Given the description of an element on the screen output the (x, y) to click on. 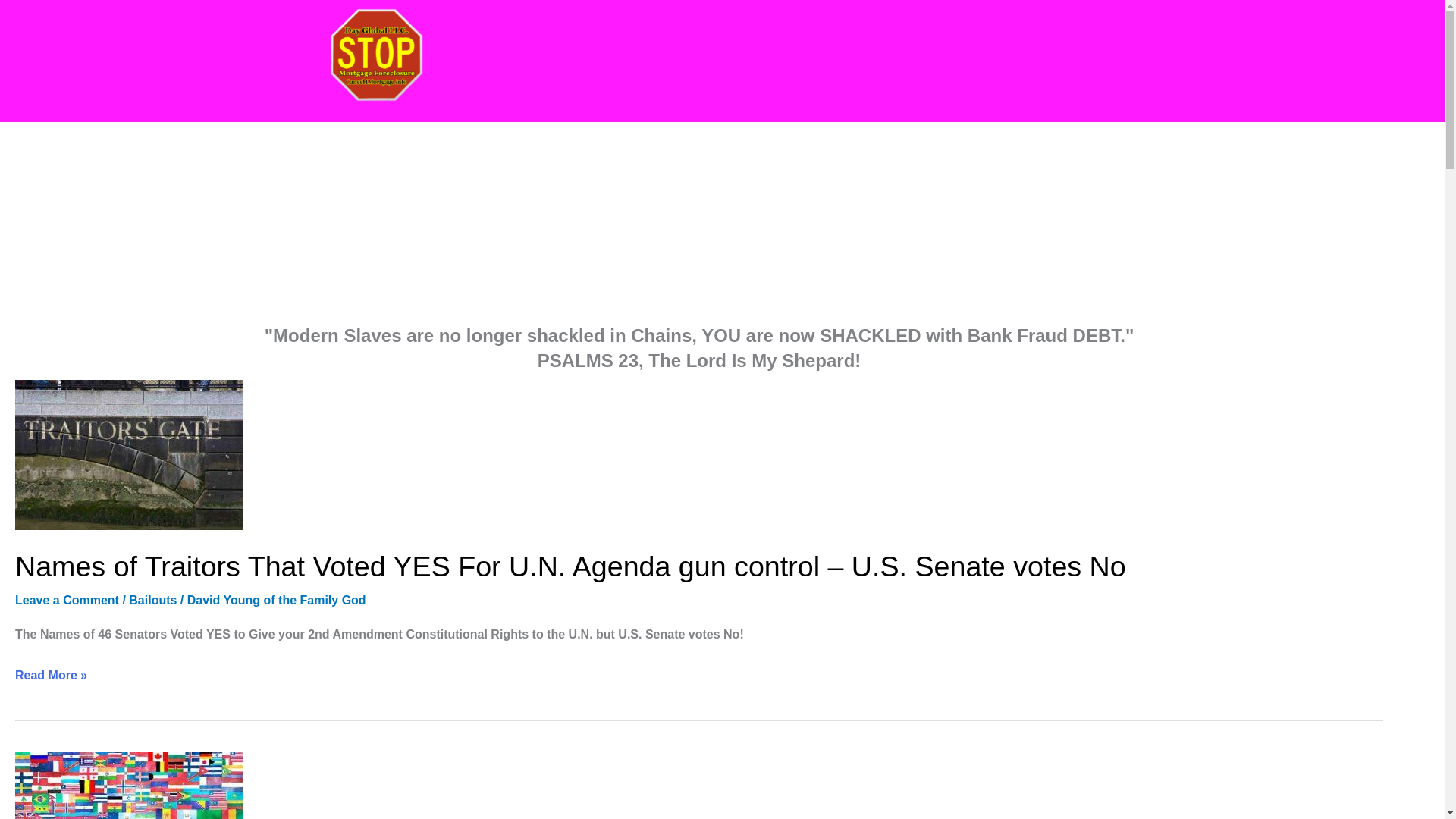
Leave a Comment (66, 599)
Bailouts (152, 599)
David Young of the Family God (276, 599)
View all posts by David Young of the Family God (276, 599)
